Given the description of an element on the screen output the (x, y) to click on. 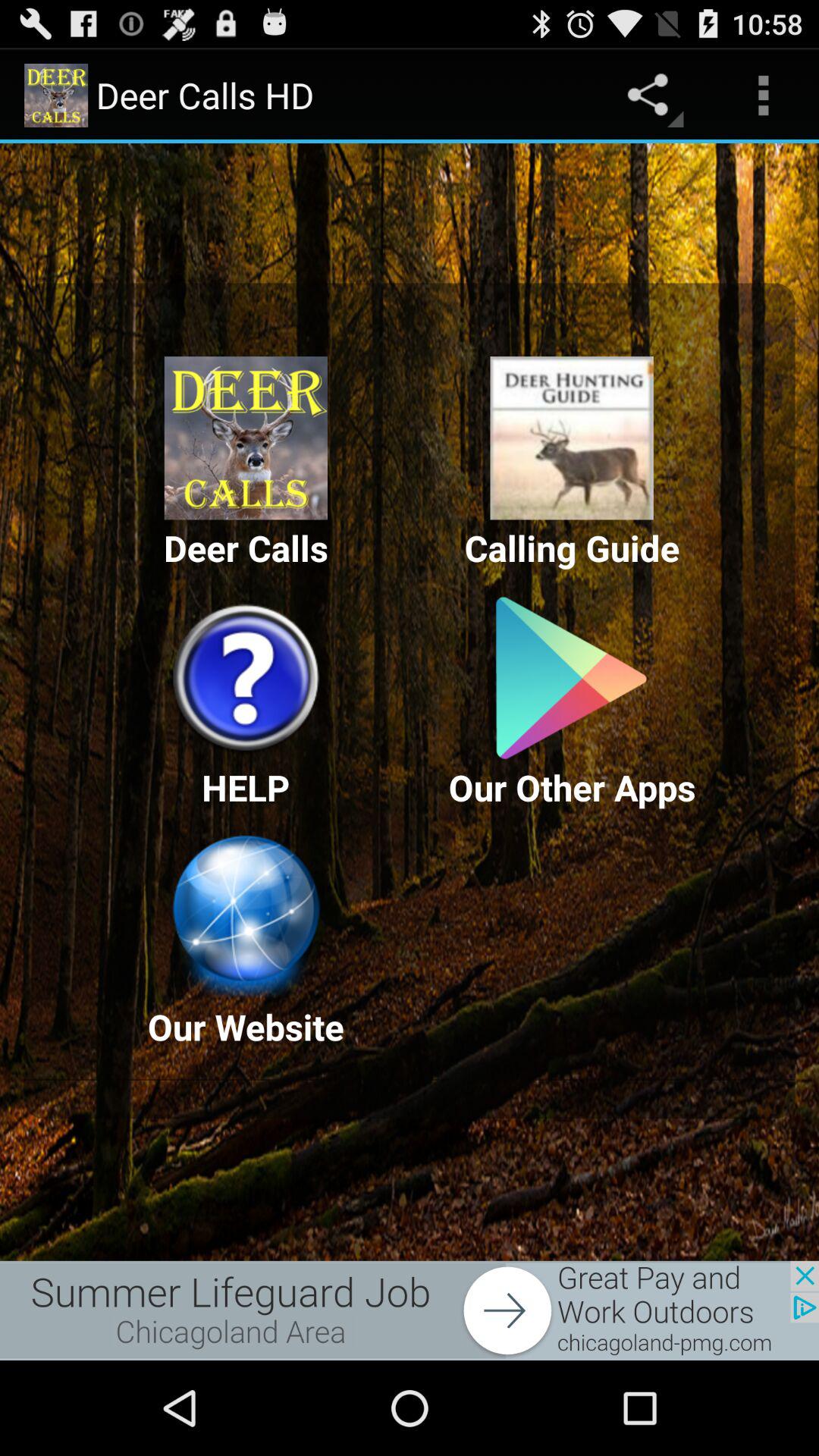
advertisement page (409, 1310)
